Given the description of an element on the screen output the (x, y) to click on. 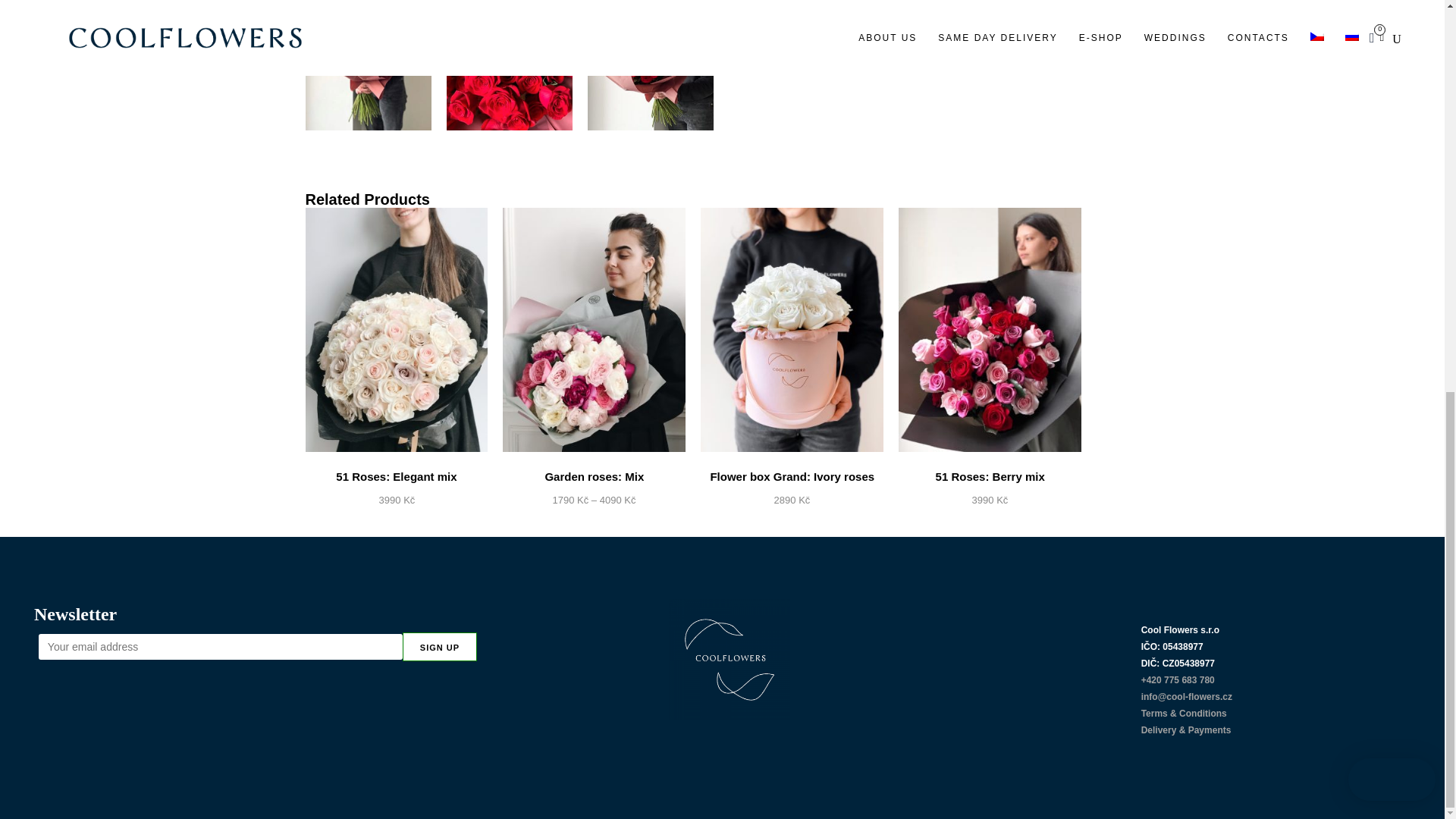
Sign up (440, 645)
C7EA3A5C-3746-4C1C-B9E3-1FFE4E897539 (367, 65)
Smartsupp widget button (1391, 29)
BA0BE780-171A-4911-99B0-2B7F35C64B2A (650, 65)
283439C8-2CB9-4CCC-8630-0FAA79F6F644 (509, 65)
